Given the description of an element on the screen output the (x, y) to click on. 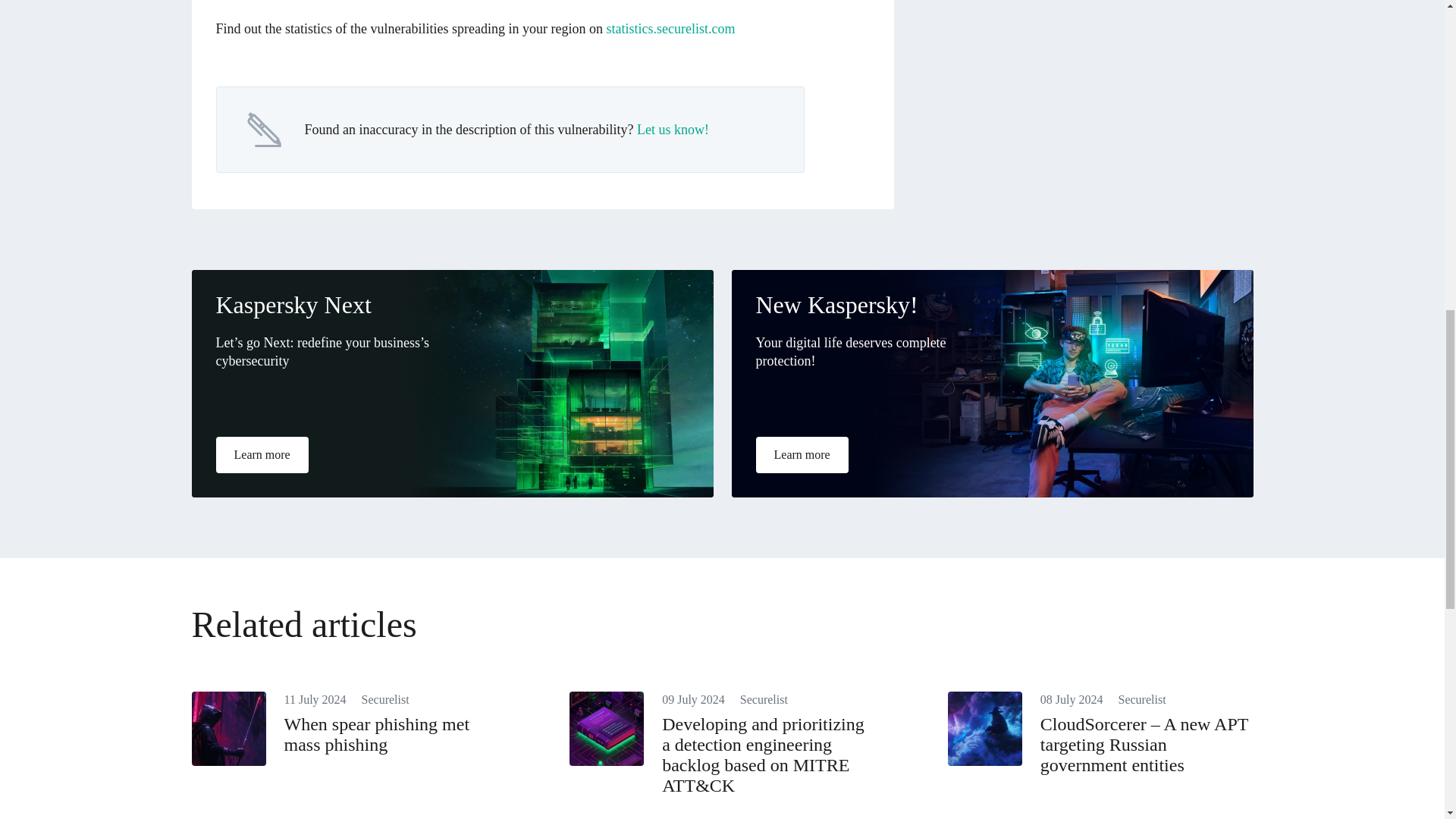
Learn more (261, 454)
statistics.securelist.com (670, 28)
Learn more (801, 454)
When spear phishing met mass phishing (375, 734)
